Given the description of an element on the screen output the (x, y) to click on. 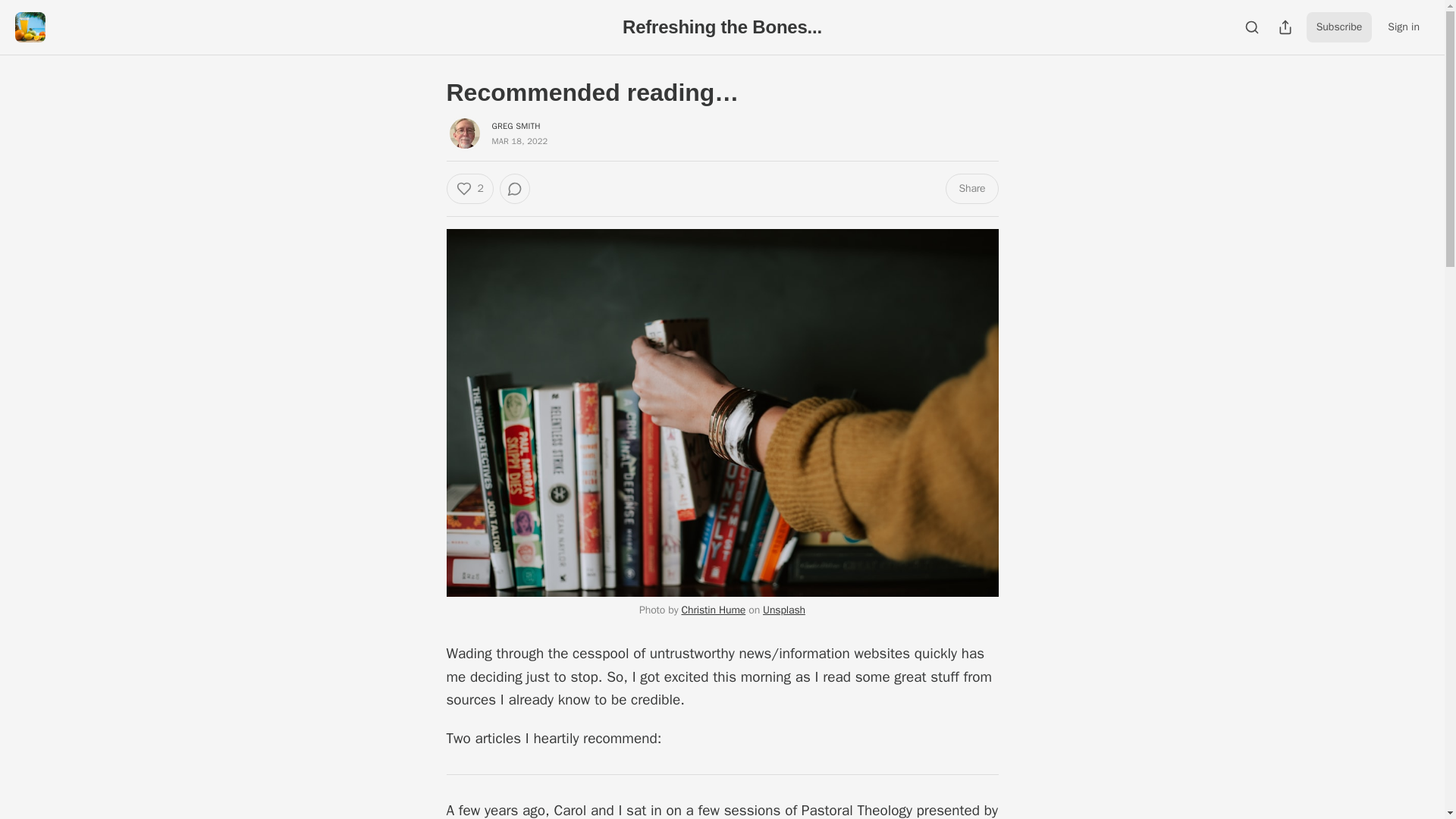
Sign in (1403, 27)
Unsplash (783, 609)
Subscribe (1339, 27)
Refreshing the Bones... (722, 26)
GREG SMITH (516, 125)
Christin Hume (713, 609)
Share (970, 188)
Unsplash (783, 609)
2 (469, 188)
